Given the description of an element on the screen output the (x, y) to click on. 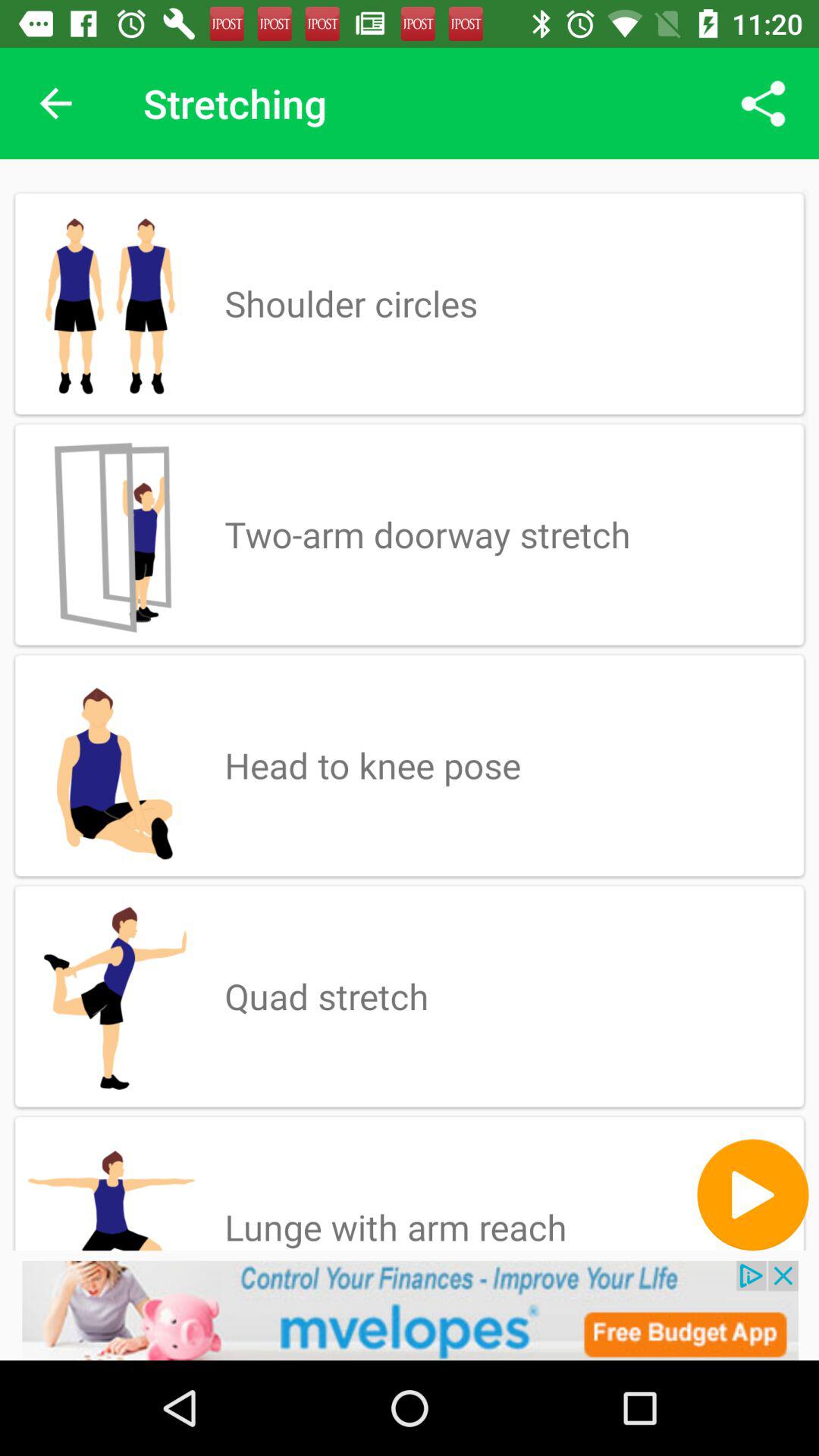
more information about an advertisement (409, 1310)
